Given the description of an element on the screen output the (x, y) to click on. 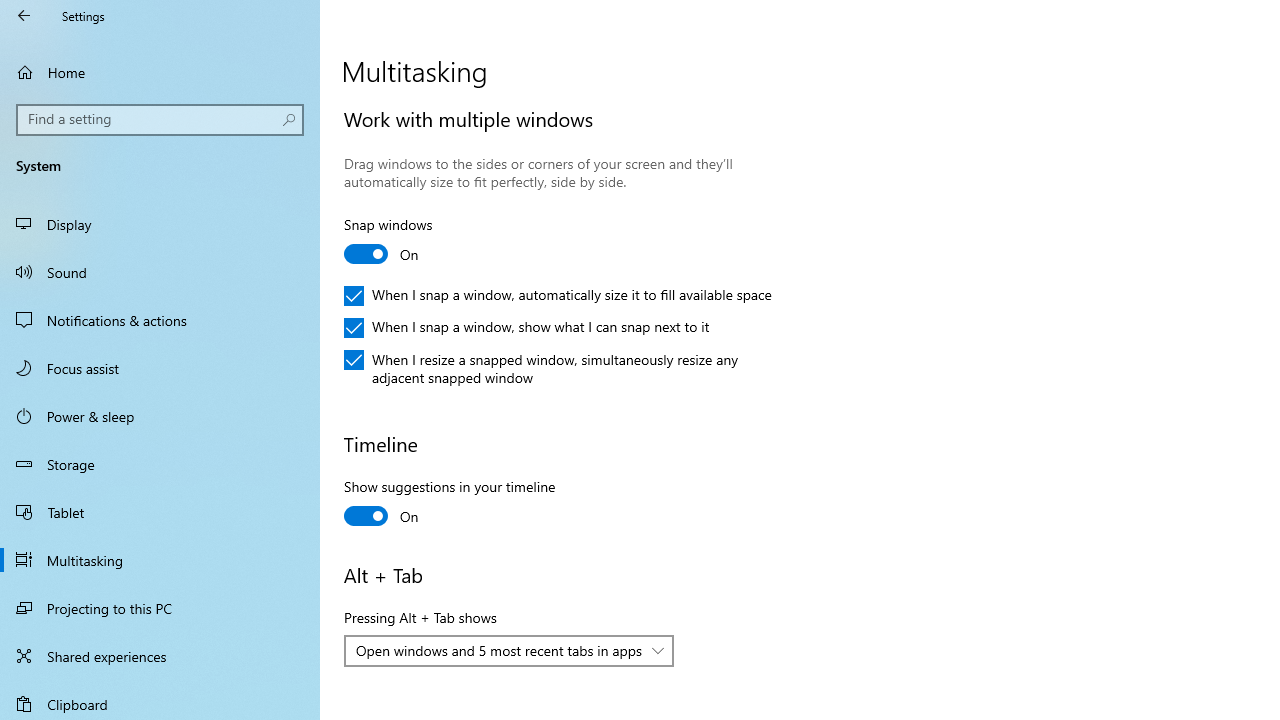
Display (160, 223)
Projecting to this PC (160, 607)
Shared experiences (160, 655)
Snap windows (417, 242)
Power & sleep (160, 415)
Multitasking (160, 559)
Home (160, 71)
Show suggestions in your timeline (449, 504)
Search box, Find a setting (160, 119)
Sound (160, 271)
Open windows and 5 most recent tabs in apps (498, 650)
Back (24, 15)
Notifications & actions (160, 319)
Pressing Alt + Tab shows (509, 650)
